Given the description of an element on the screen output the (x, y) to click on. 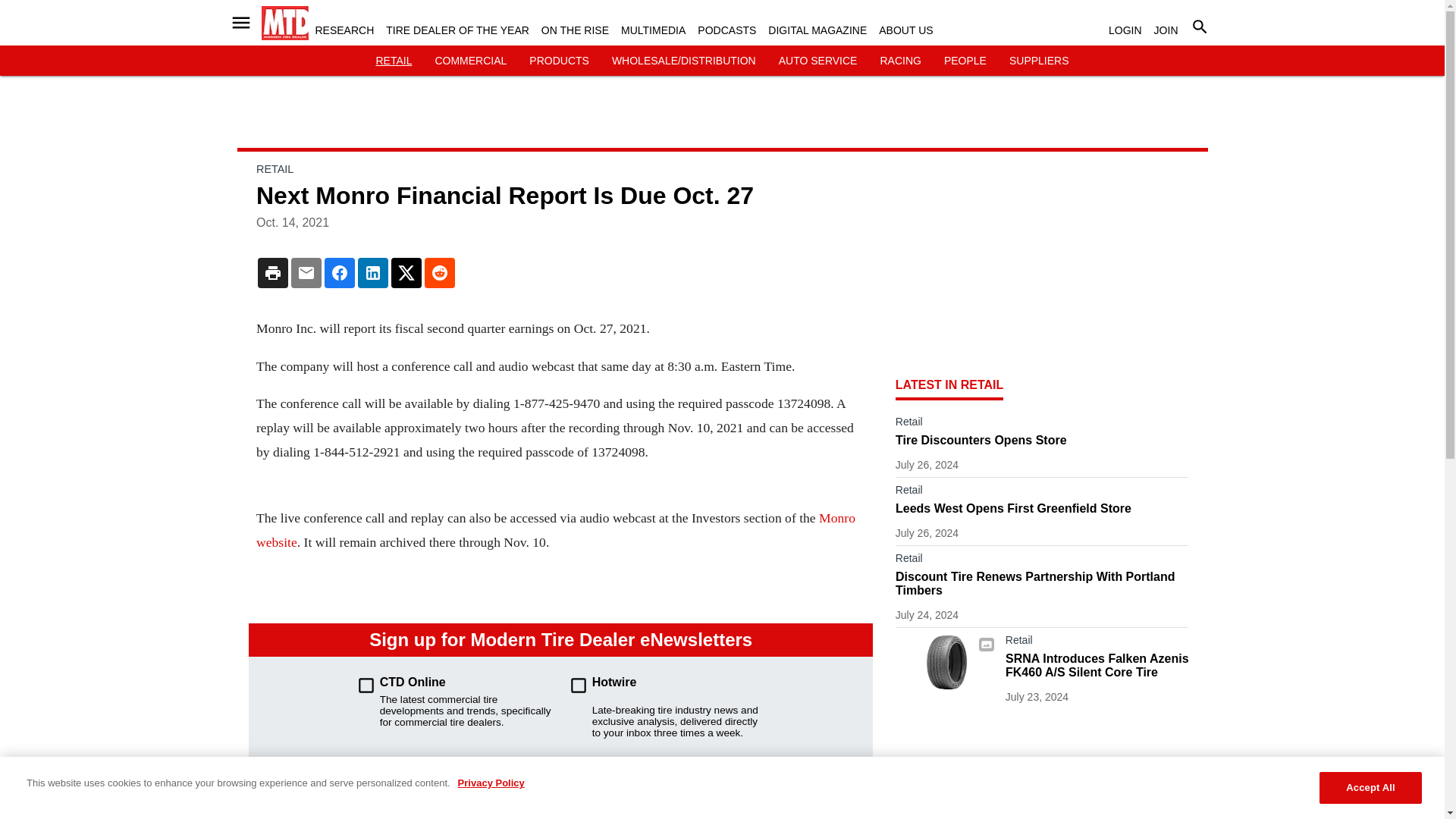
RETAIL (393, 60)
COMMERCIAL (469, 60)
RACING (899, 60)
PEOPLE (965, 60)
PRODUCTS (559, 60)
MULTIMEDIA (653, 30)
TIRE DEALER OF THE YEAR (457, 30)
JOIN (1165, 30)
AUTO SERVICE (817, 60)
DIGITAL MAGAZINE (817, 30)
